Given the description of an element on the screen output the (x, y) to click on. 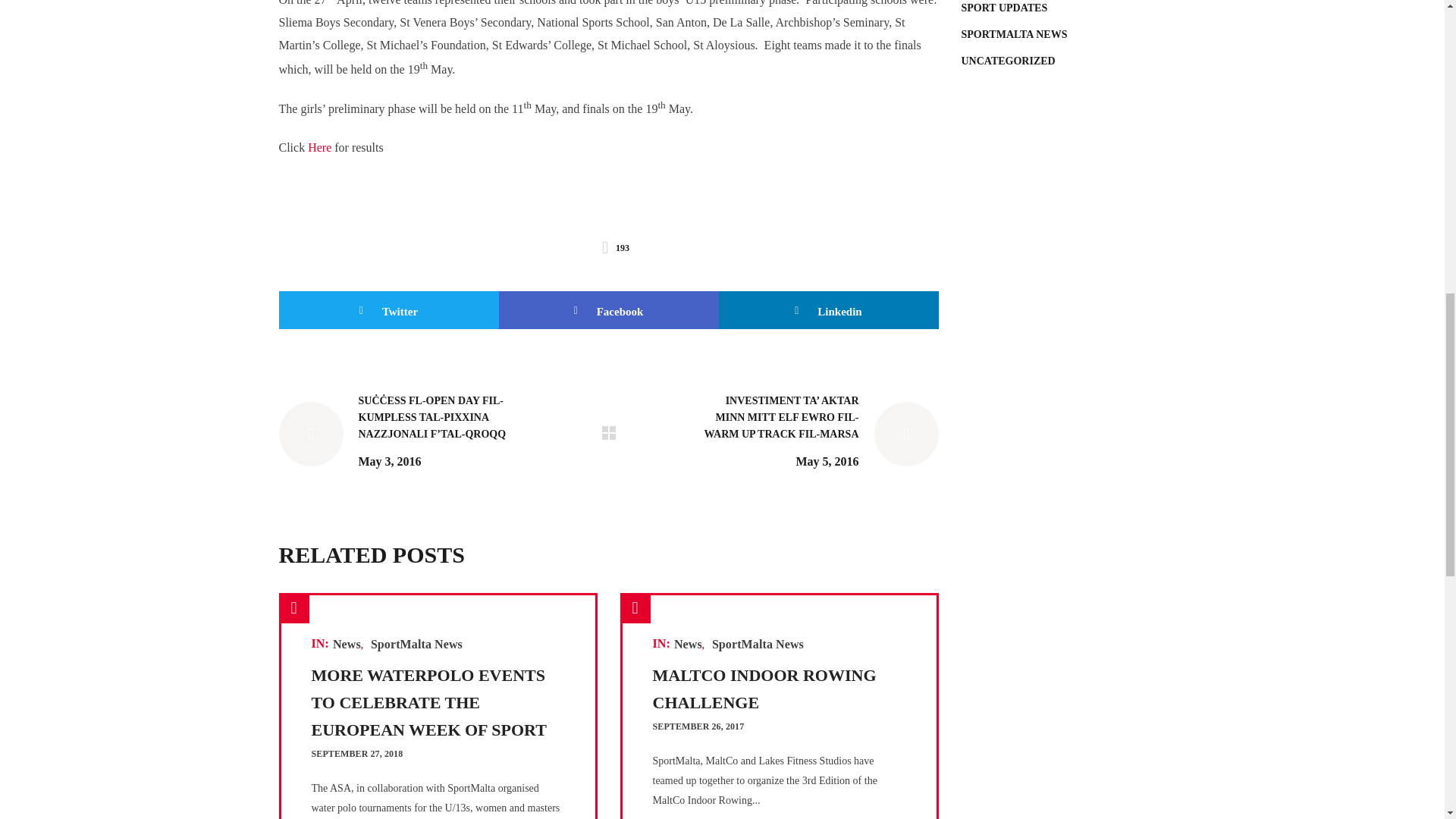
Facebook (609, 310)
Here (319, 146)
Twitter (389, 310)
